Given the description of an element on the screen output the (x, y) to click on. 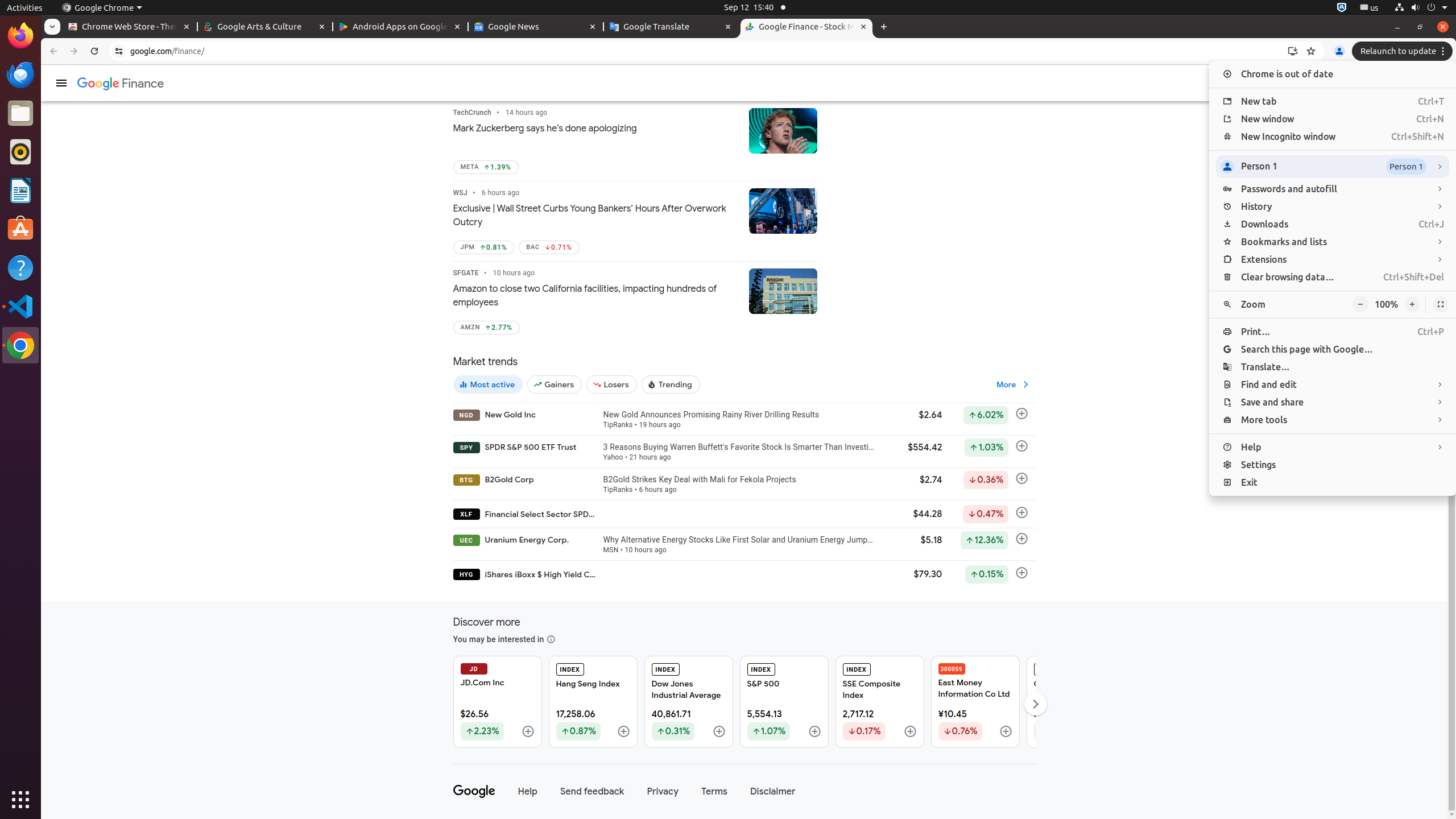
Translate… Element type: menu-item (1332, 366)
Visual Studio Code Element type: push-button (20, 306)
Save and share Element type: menu-item (1332, 402)
Full screen F11 Element type: menu-item (1440, 304)
Exit Element type: menu-item (1332, 482)
